Given the description of an element on the screen output the (x, y) to click on. 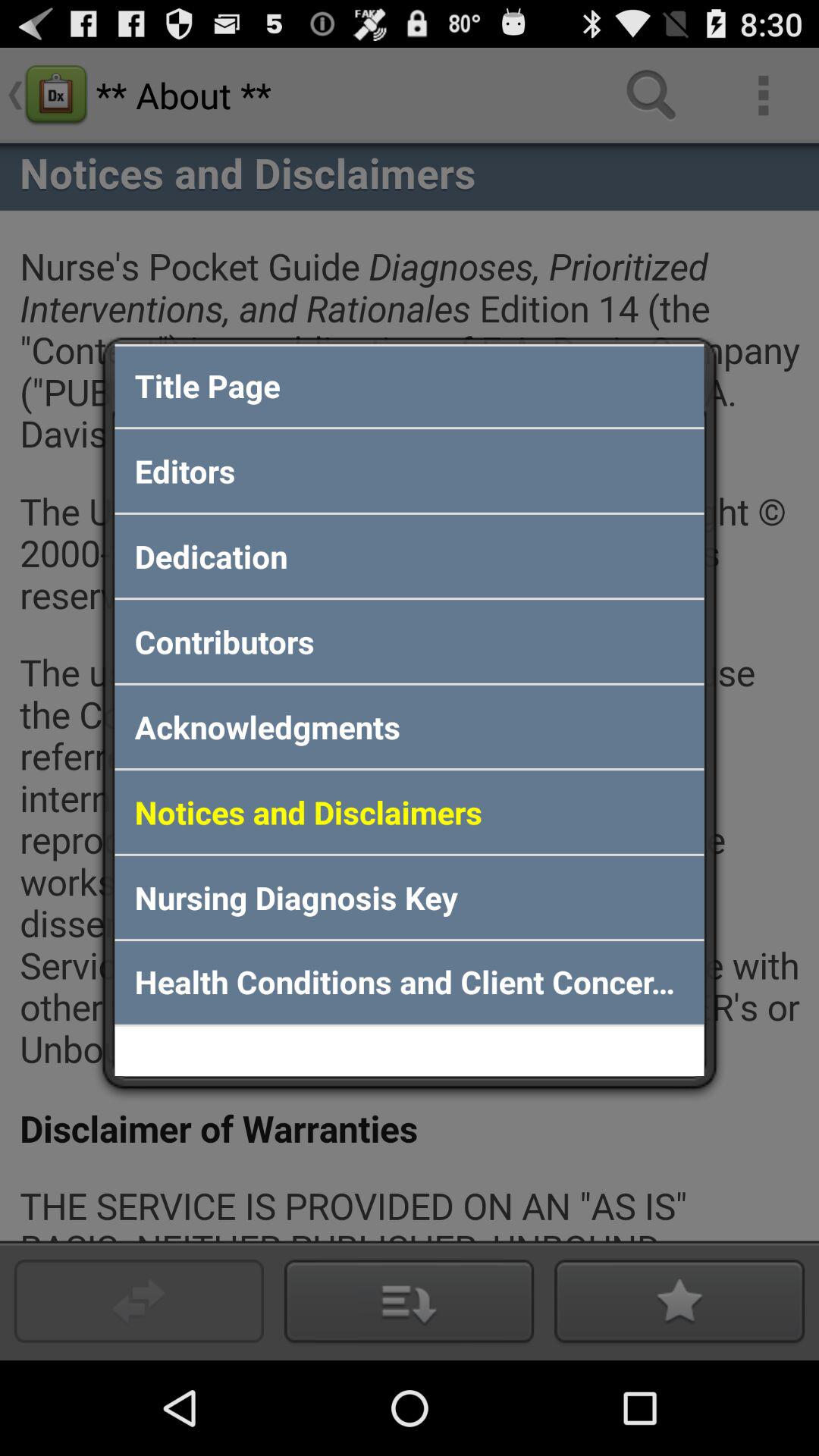
choose the item below contributors icon (409, 726)
